Given the description of an element on the screen output the (x, y) to click on. 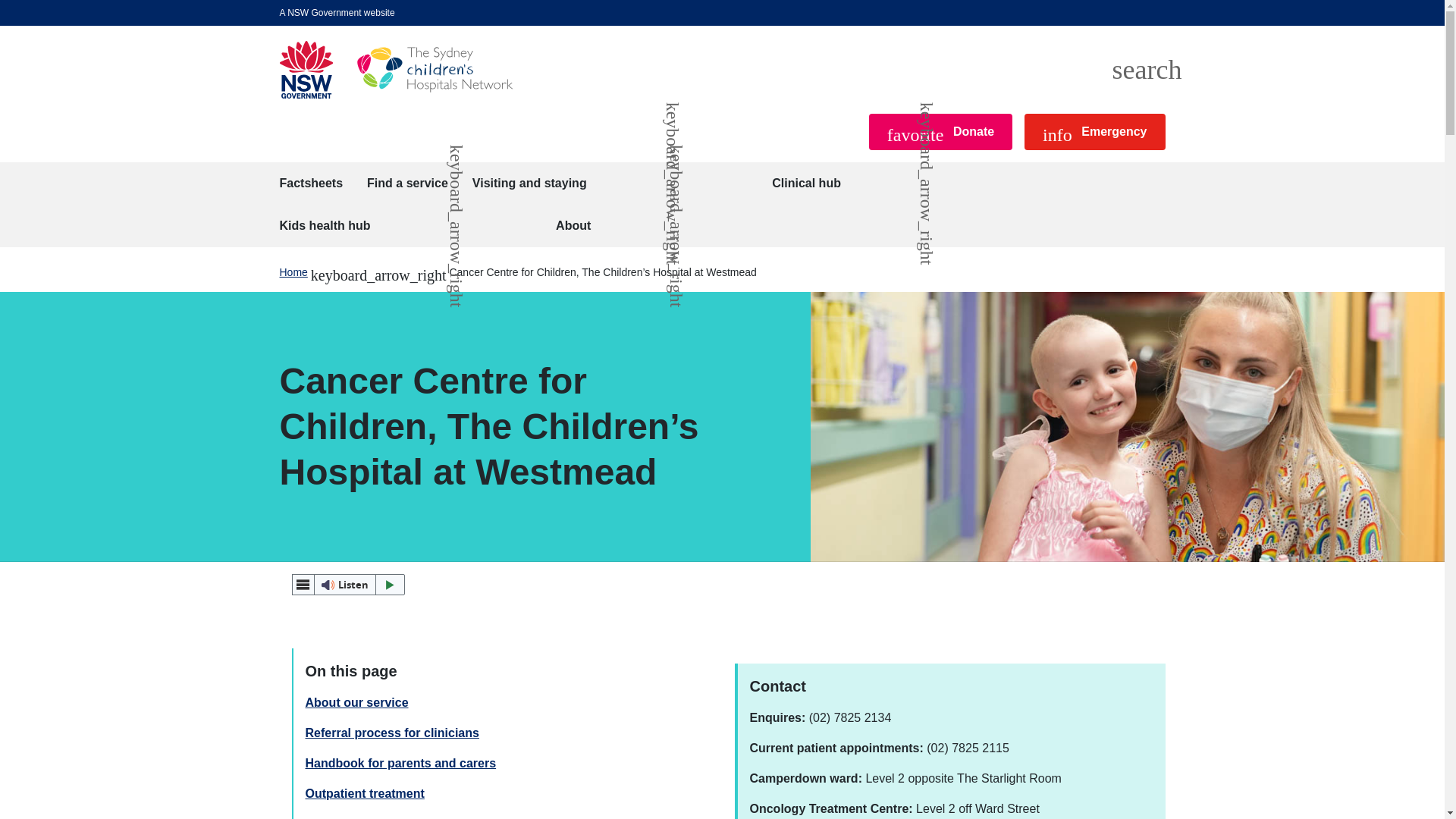
webReader menu (398, 69)
Find a service (1146, 69)
Listen to this page using ReadSpeaker (302, 584)
Factsheets (407, 183)
favorite Donate (347, 584)
info Emergency (310, 183)
